Given the description of an element on the screen output the (x, y) to click on. 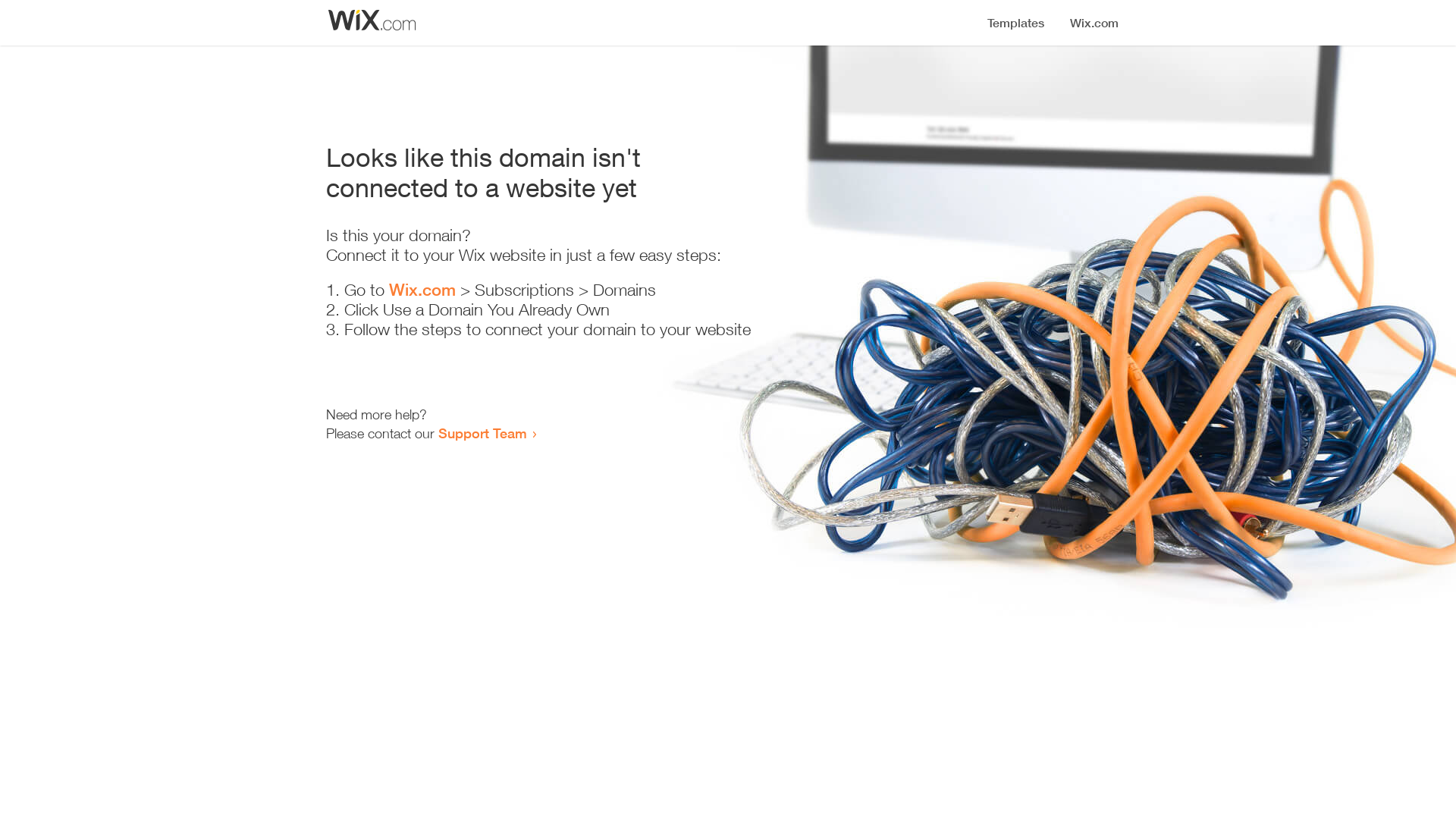
Support Team Element type: text (482, 432)
Wix.com Element type: text (422, 289)
